Given the description of an element on the screen output the (x, y) to click on. 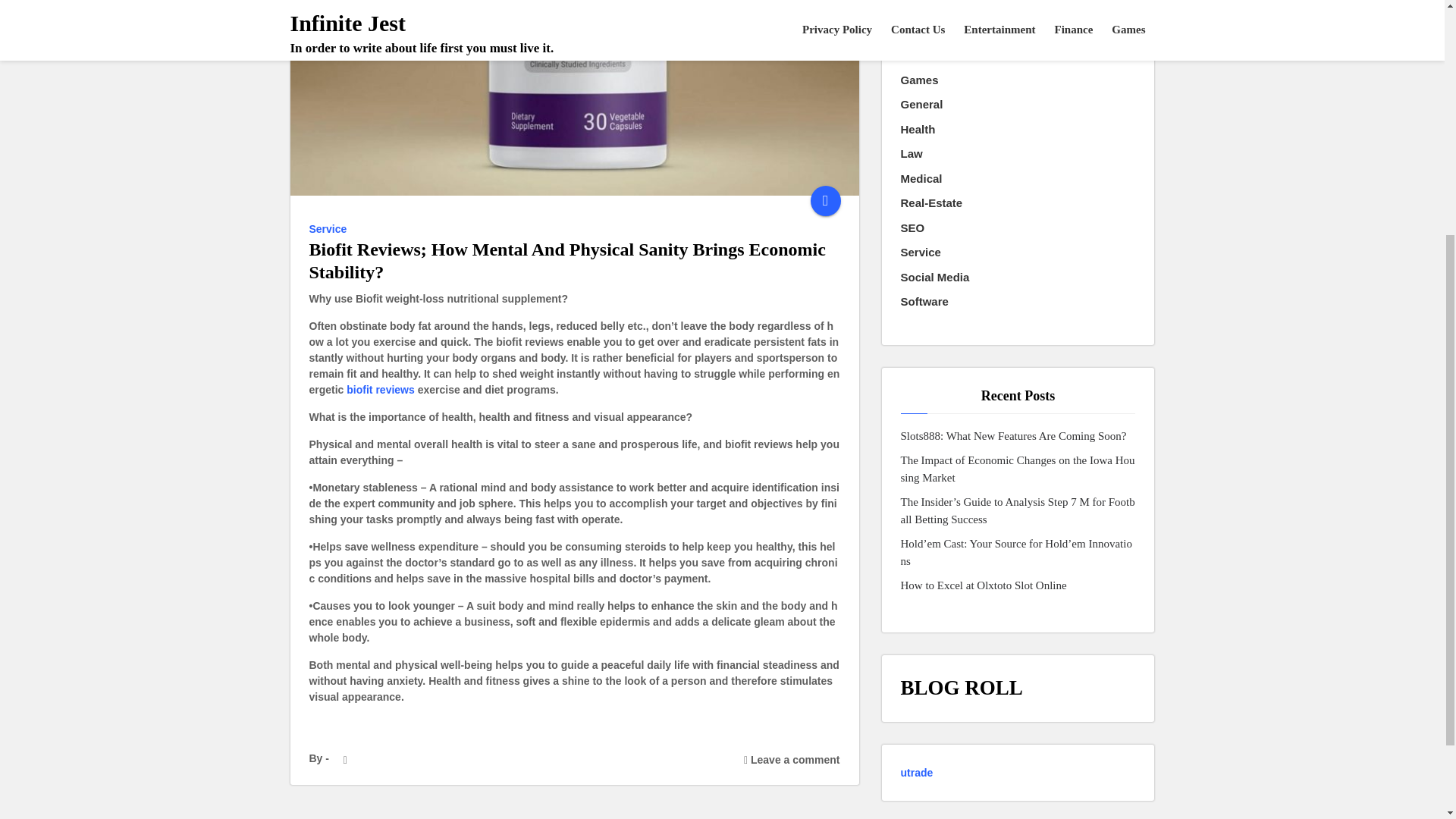
Education (928, 7)
Service (920, 252)
Games (920, 80)
Slots888: What New Features Are Coming Soon? (1013, 436)
biofit reviews (379, 390)
Entertainment (938, 31)
Social Media (935, 277)
SEO (912, 228)
utrade (917, 772)
Finance (922, 55)
